Given the description of an element on the screen output the (x, y) to click on. 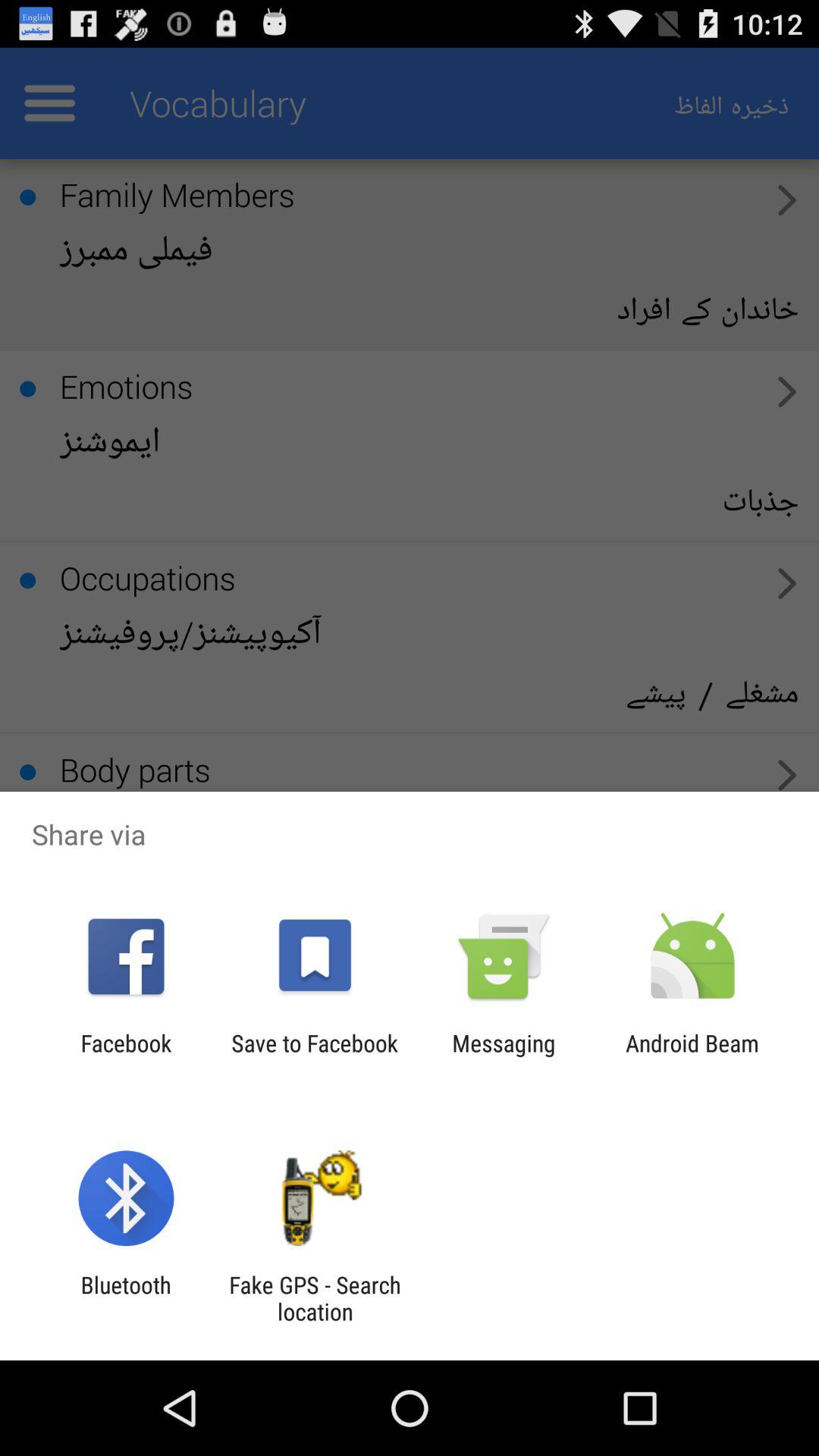
turn off the item next to android beam app (503, 1056)
